Given the description of an element on the screen output the (x, y) to click on. 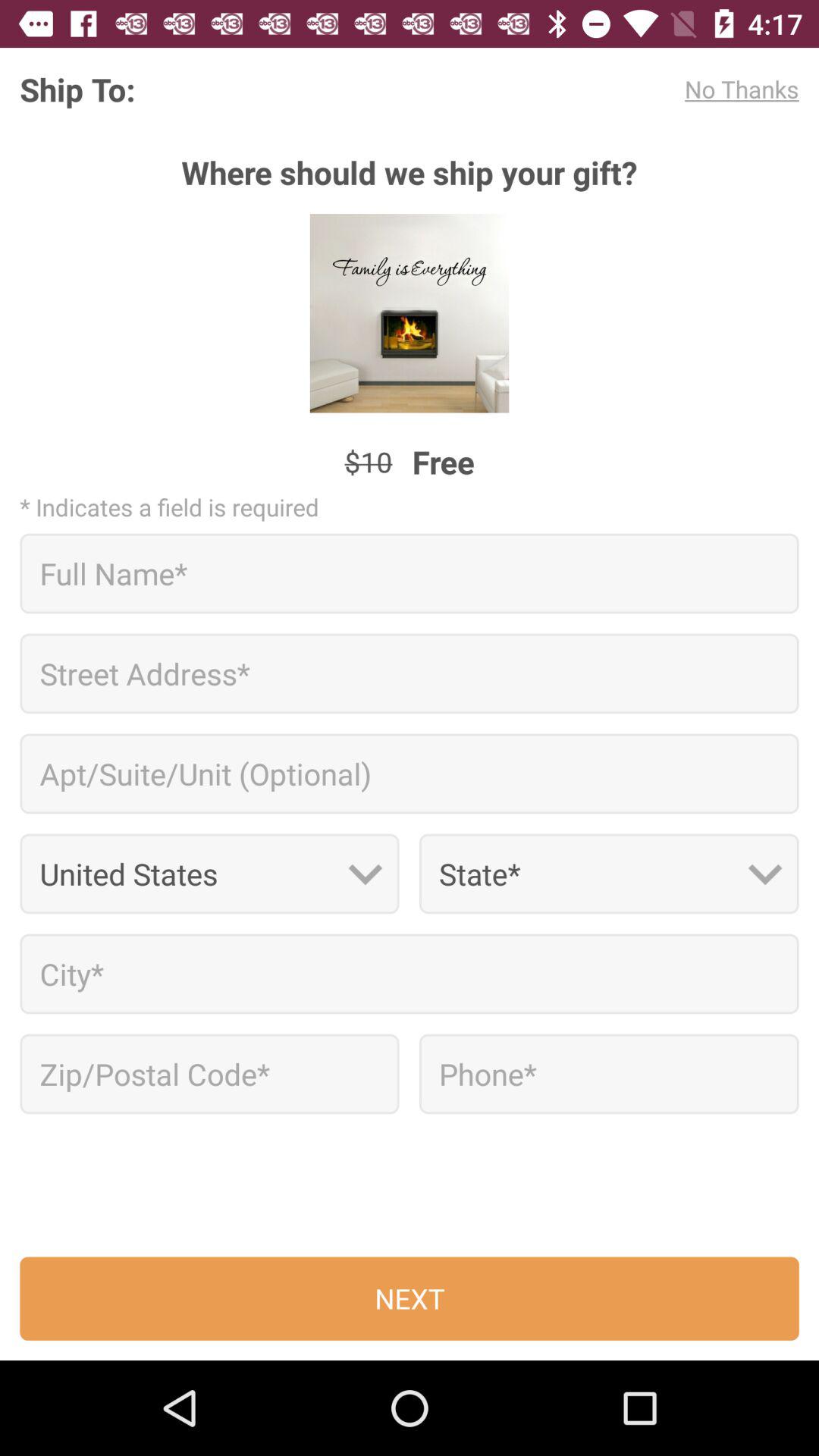
select the country text field left next to state text field (209, 874)
select the city text field above postal code text field (409, 973)
select the full name text field above street address text field (409, 573)
click the phone field (609, 1073)
click on the image below where should we ship your gift (409, 313)
